Given the description of an element on the screen output the (x, y) to click on. 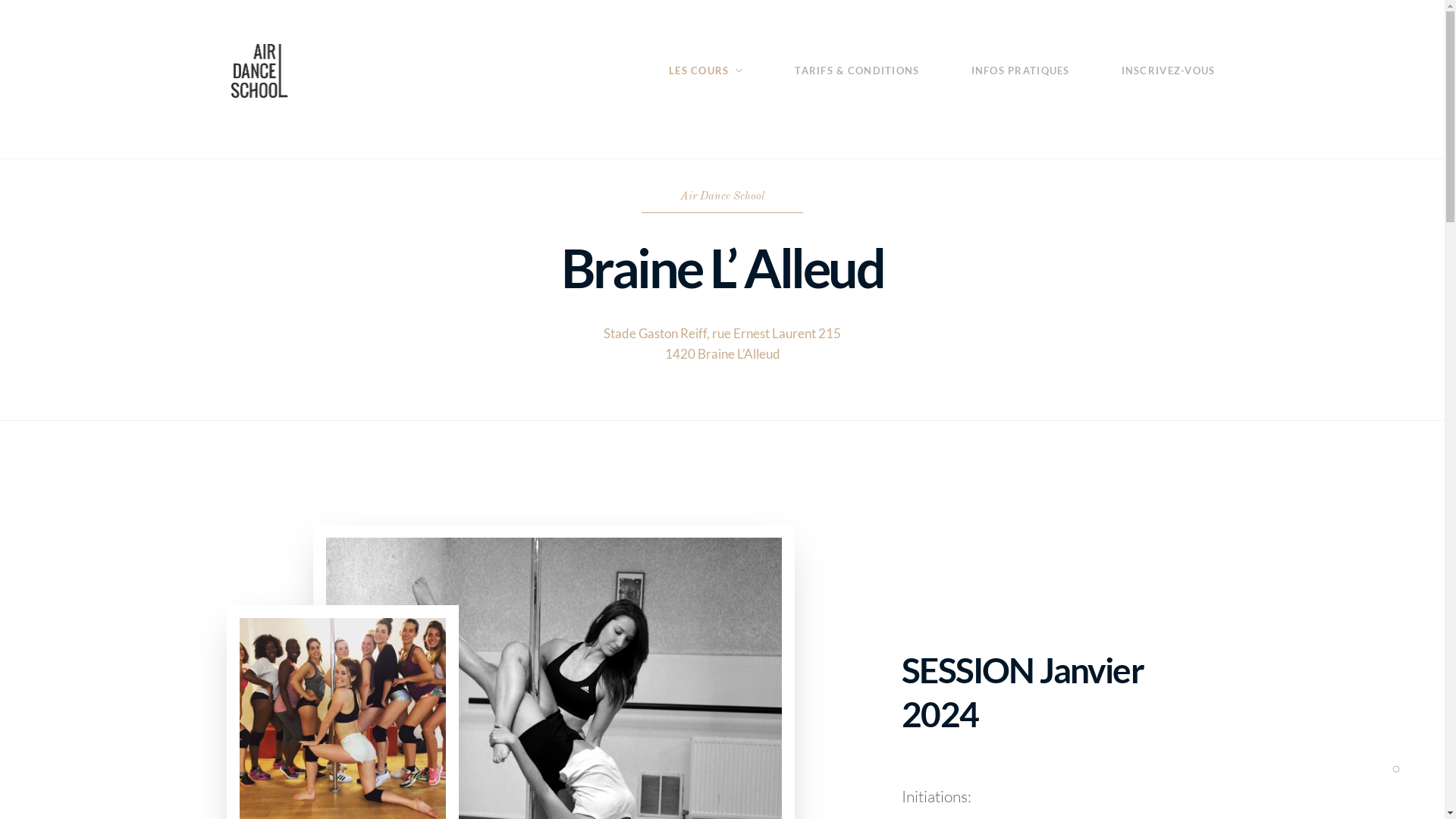
INFOS PRATIQUES Element type: text (1020, 70)
LES COURS Element type: text (705, 70)
TARIFS & CONDITIONS Element type: text (856, 70)
Gallery Element type: hover (1395, 769)
INSCRIVEZ-VOUS Element type: text (1168, 70)
